Given the description of an element on the screen output the (x, y) to click on. 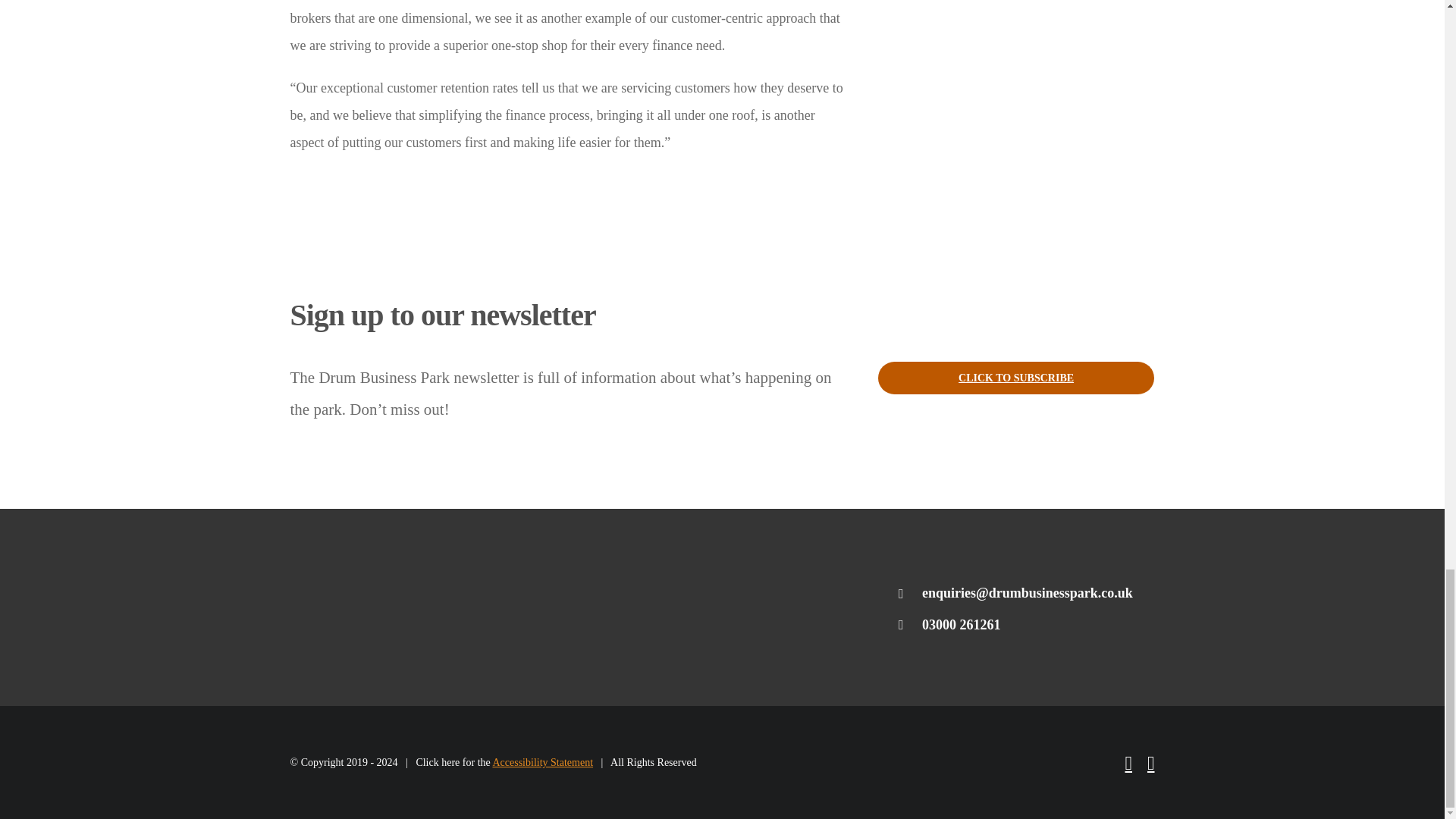
Facebook (1128, 763)
Twitter (1150, 763)
CLICK TO SUBSCRIBE (1015, 377)
Accessibility Statement (542, 762)
Twitter (1150, 763)
Facebook (1128, 763)
